Given the description of an element on the screen output the (x, y) to click on. 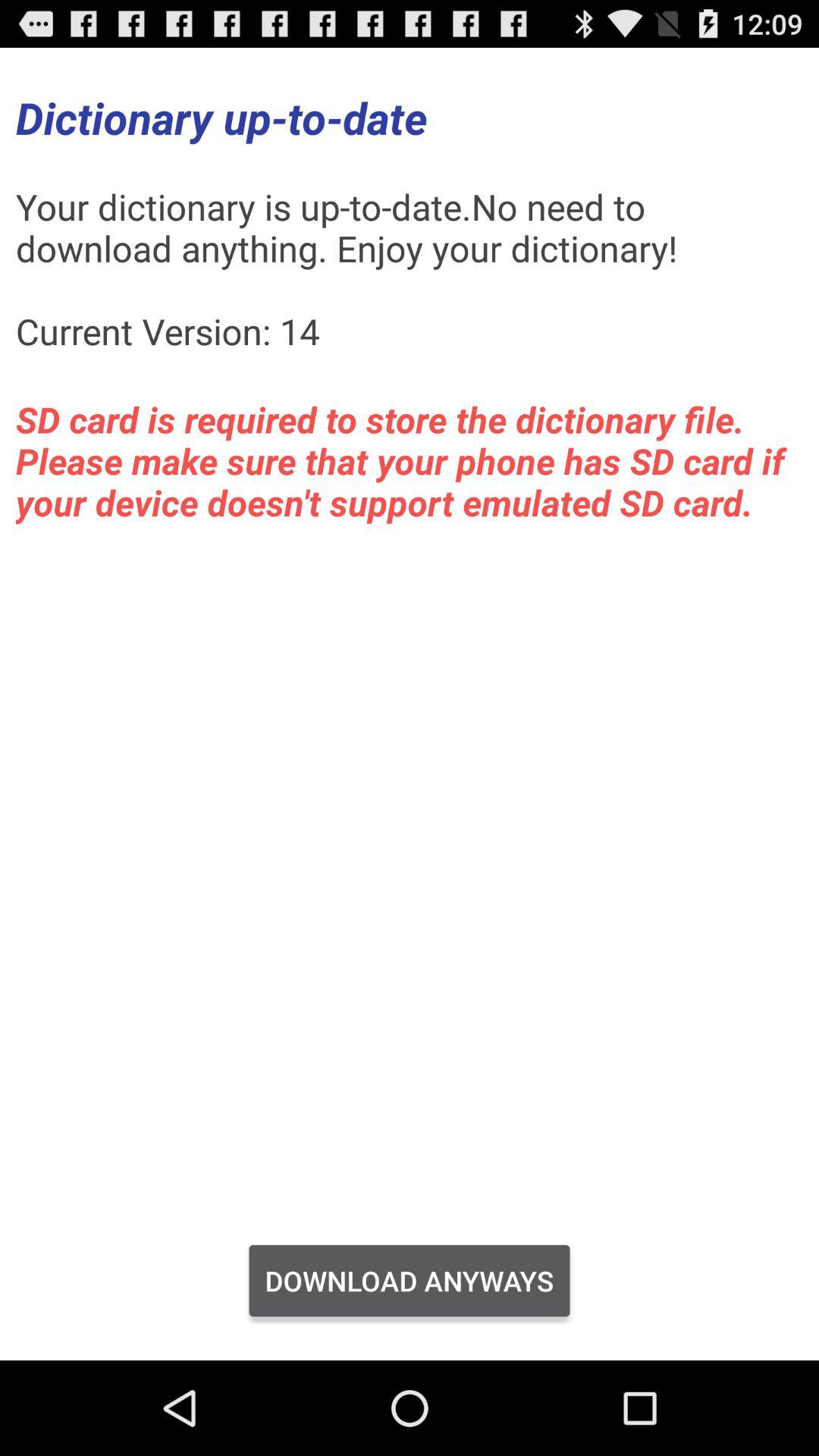
click icon below the sd card is app (409, 1280)
